Given the description of an element on the screen output the (x, y) to click on. 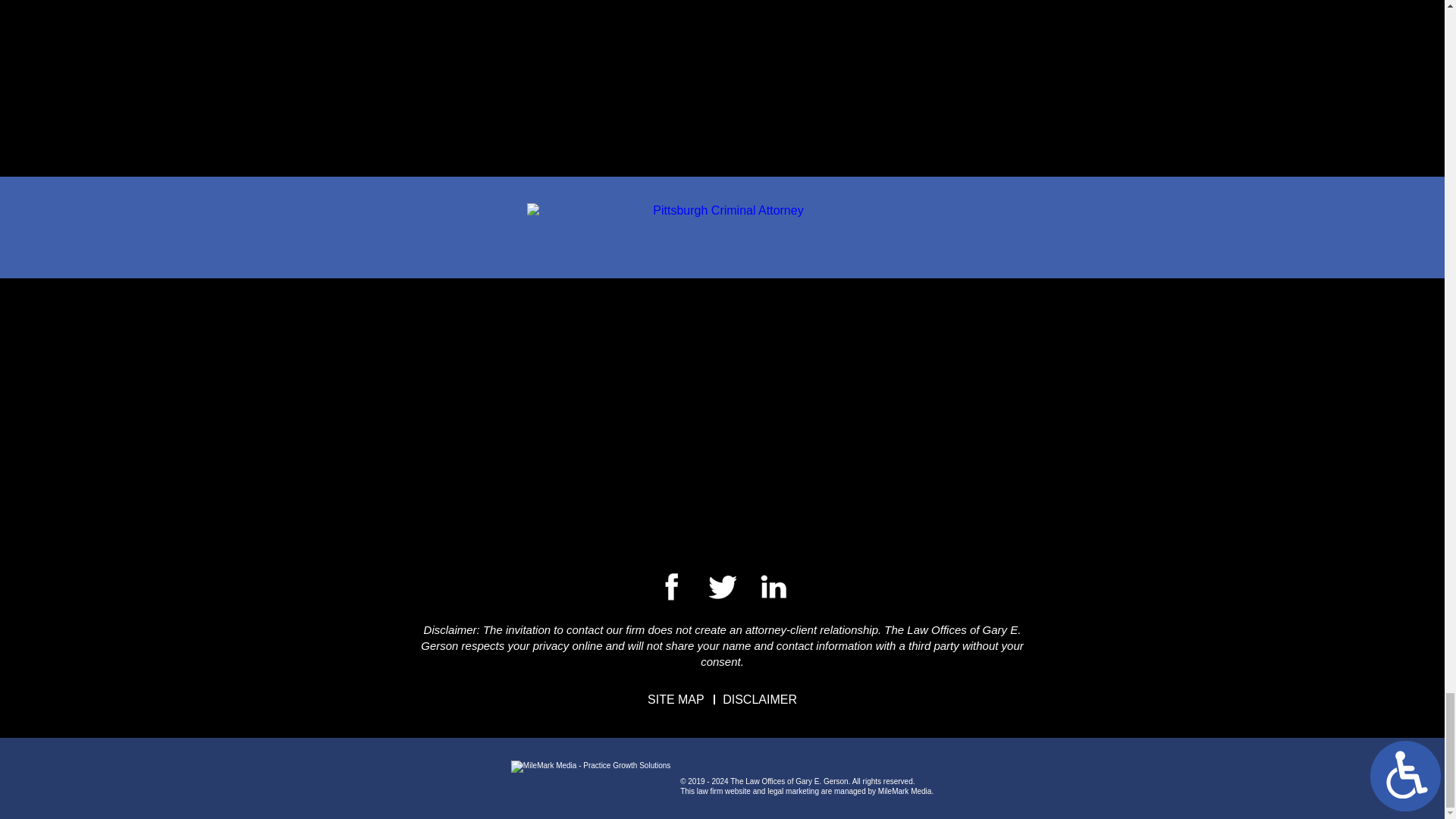
Twitter (743, 588)
LinkedIn (767, 587)
Facebook (713, 586)
